Given the description of an element on the screen output the (x, y) to click on. 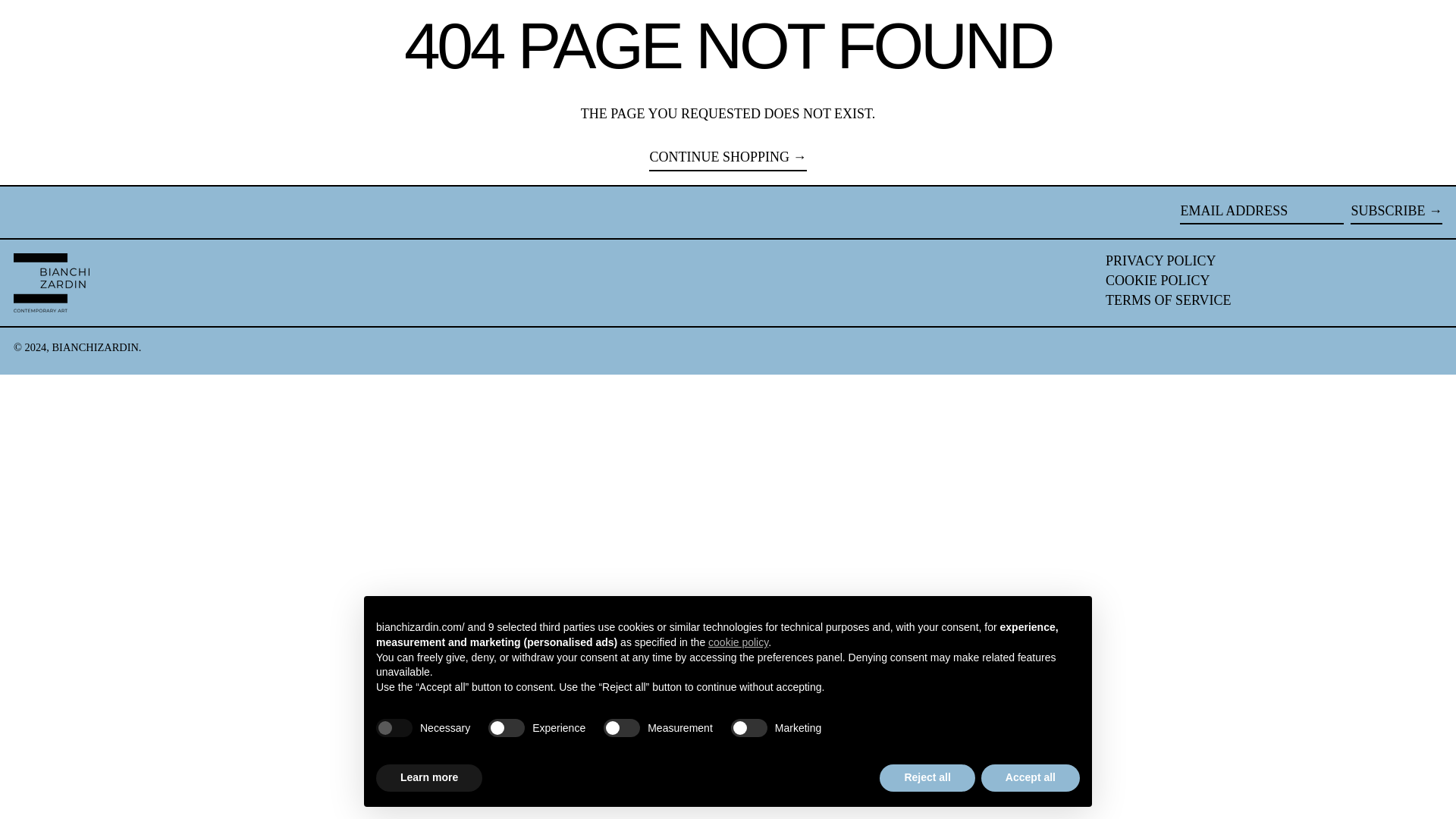
false (622, 728)
PRIVACY POLICY (1160, 260)
Reject all (926, 777)
Accept all (1030, 777)
BIANCHIZARDIN (95, 346)
COOKIE POLICY (1157, 280)
false (748, 728)
false (505, 728)
TERMS OF SERVICE (1168, 299)
true (393, 728)
